Given the description of an element on the screen output the (x, y) to click on. 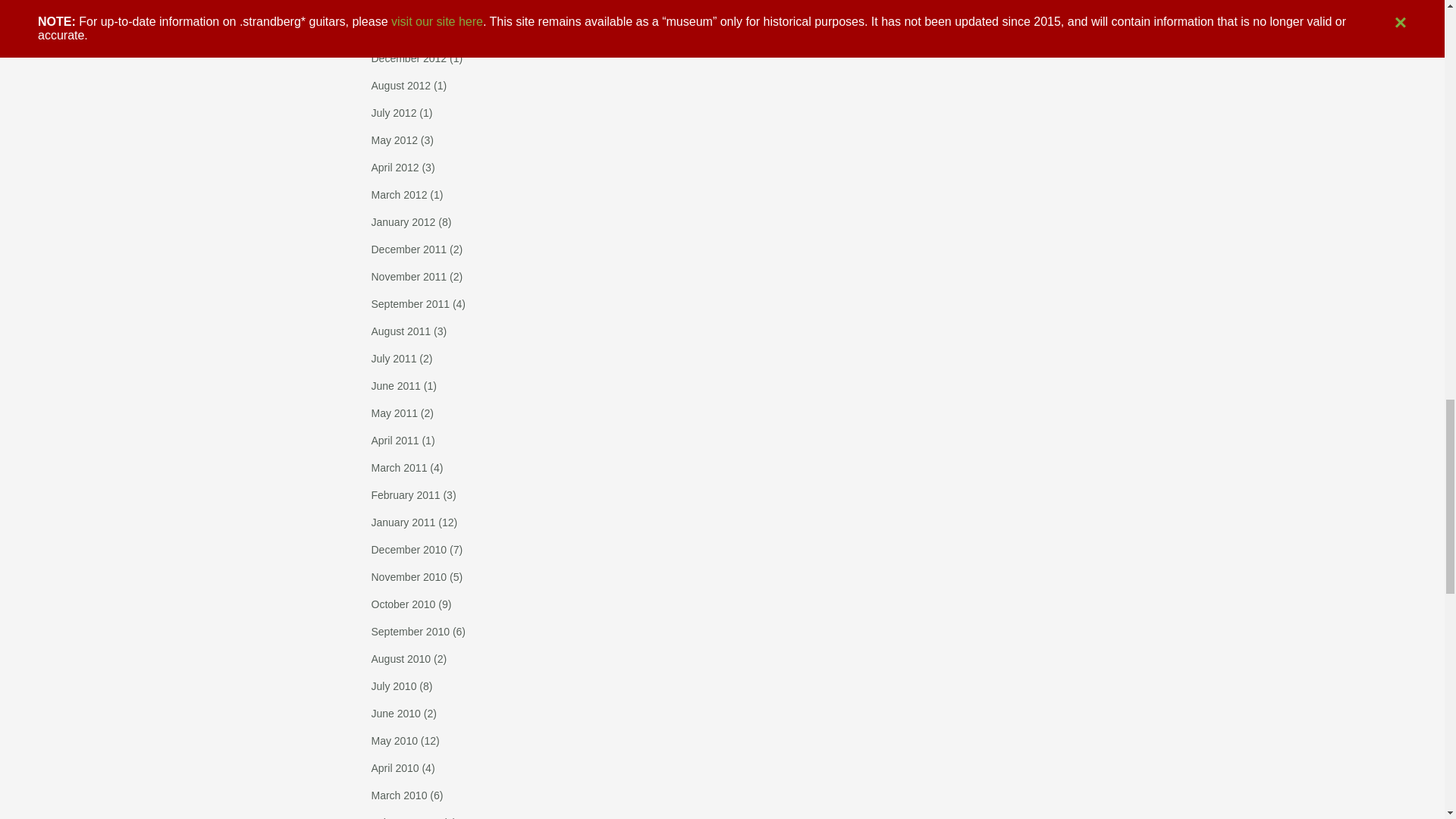
August 2012 (400, 85)
January 2013 (403, 30)
February 2013 (406, 4)
December 2012 (408, 58)
August 2011 (400, 331)
April 2012 (395, 167)
September 2011 (410, 304)
December 2011 (408, 249)
July 2012 (393, 112)
January 2012 (403, 222)
May 2012 (394, 140)
November 2011 (408, 276)
March 2012 (399, 194)
